Given the description of an element on the screen output the (x, y) to click on. 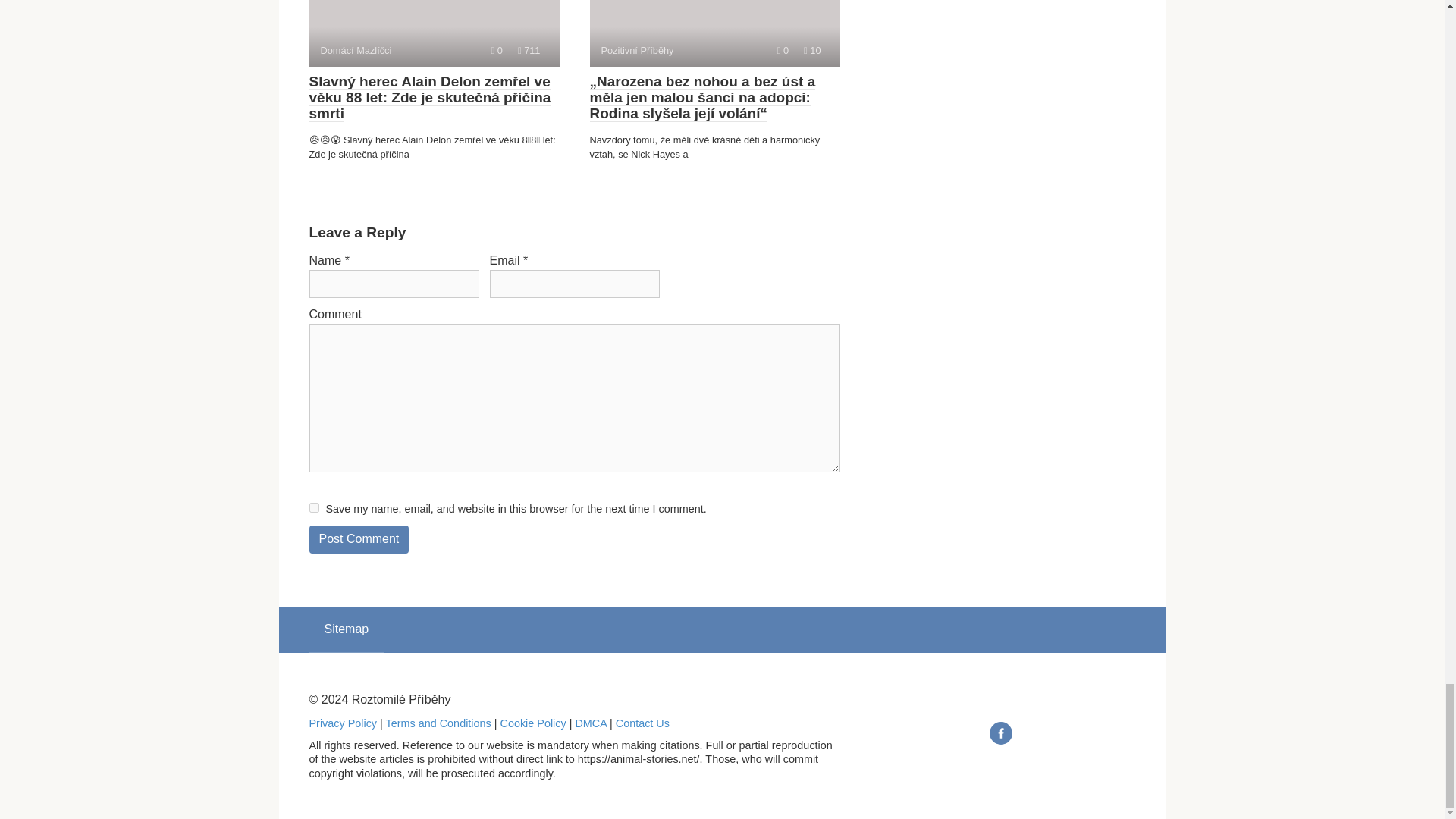
Comments (497, 50)
Views (812, 50)
Post Comment (358, 539)
Post Comment (358, 539)
Comments (783, 50)
yes (313, 507)
Views (529, 50)
